Given the description of an element on the screen output the (x, y) to click on. 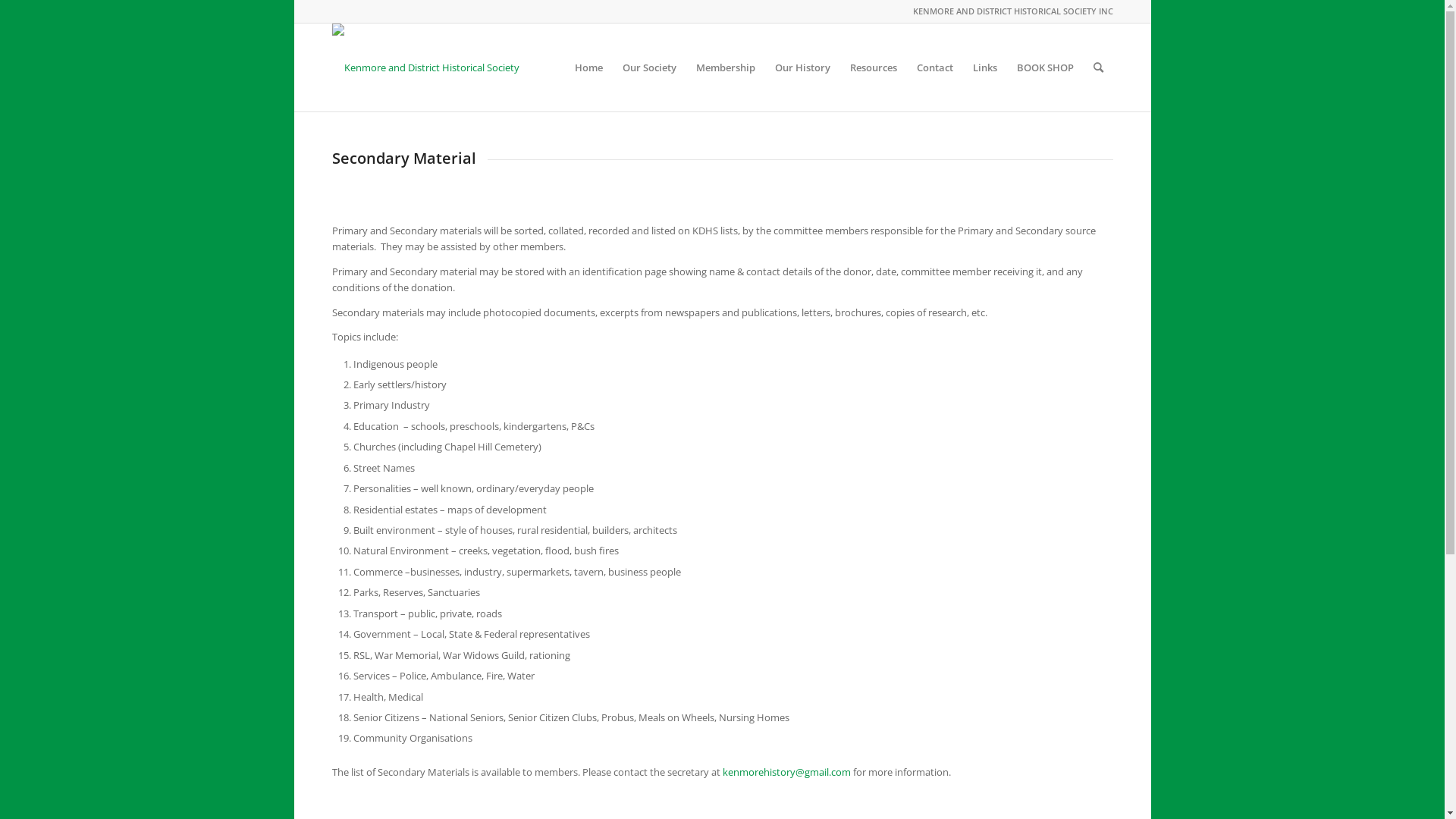
Our Society Element type: text (649, 67)
Home Element type: text (587, 67)
BOOK SHOP Element type: text (1045, 67)
Membership Element type: text (724, 67)
kenmorehistory@gmail.com Element type: text (785, 771)
Links Element type: text (985, 67)
Contact Element type: text (934, 67)
Resources Element type: text (873, 67)
Our History Element type: text (801, 67)
